Given the description of an element on the screen output the (x, y) to click on. 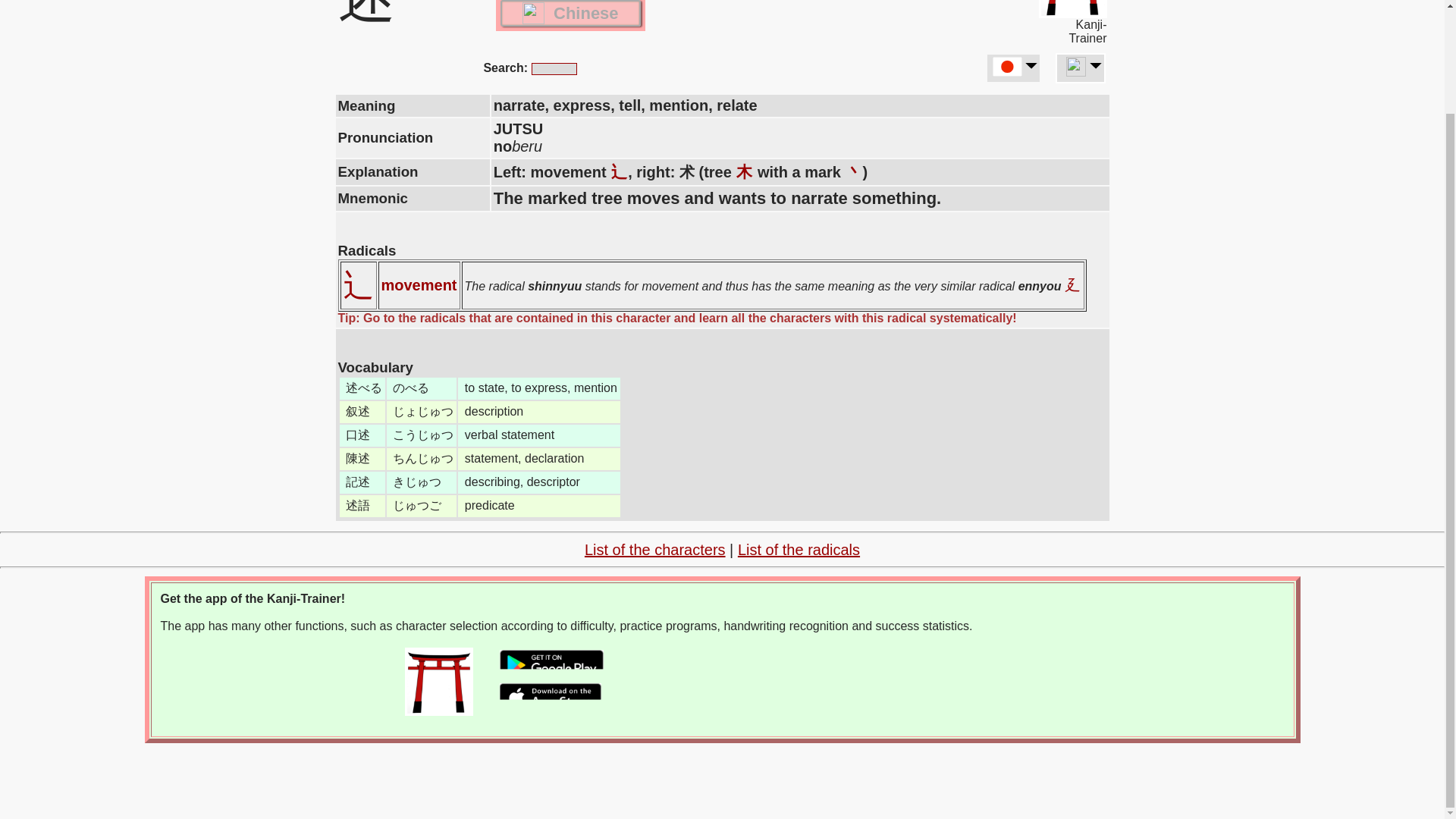
movement (418, 284)
  Chinese (570, 13)
List of the radicals (799, 549)
List of the characters (655, 549)
